Given the description of an element on the screen output the (x, y) to click on. 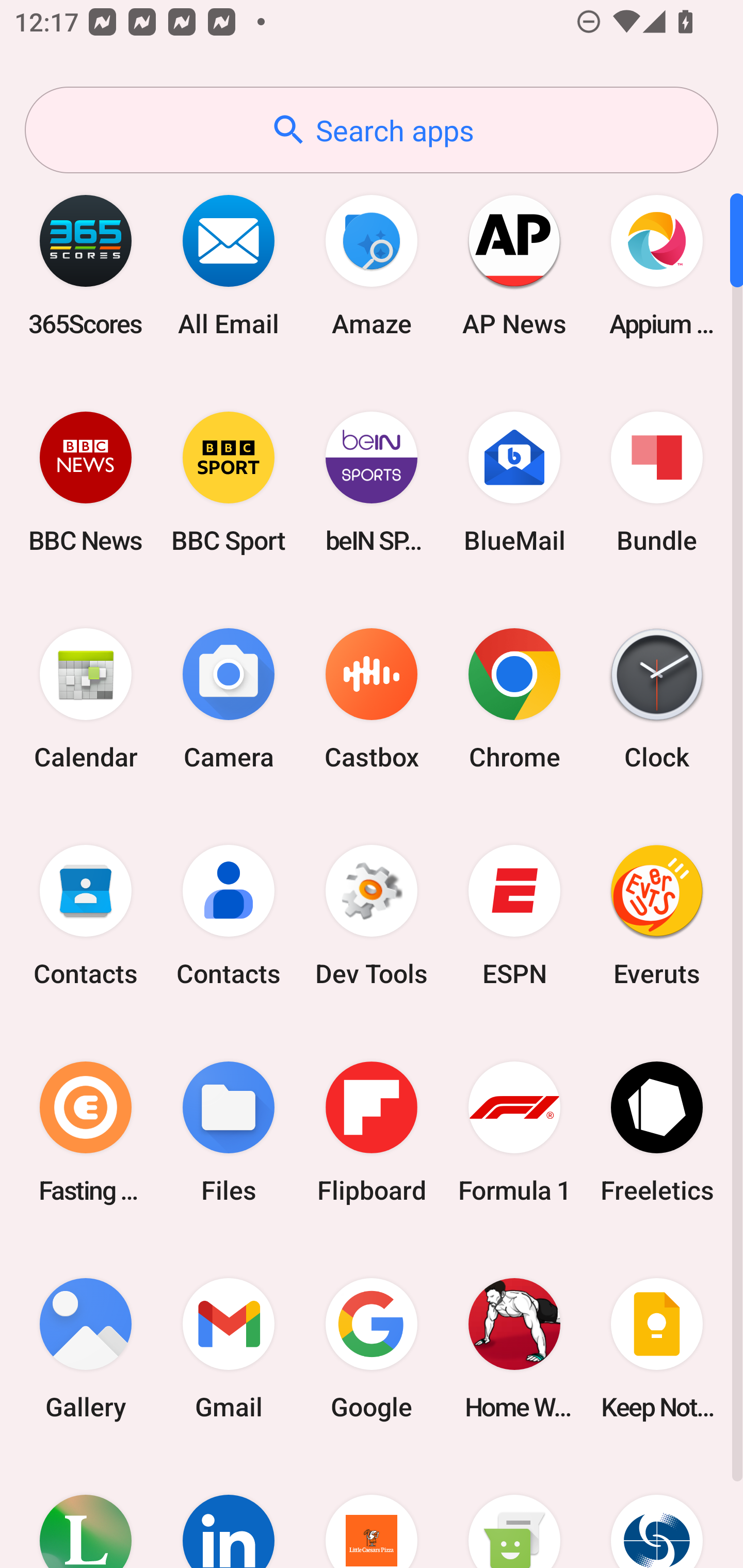
  Search apps (371, 130)
365Scores (85, 264)
All Email (228, 264)
Amaze (371, 264)
AP News (514, 264)
Appium Settings (656, 264)
BBC News (85, 482)
BBC Sport (228, 482)
beIN SPORTS (371, 482)
BlueMail (514, 482)
Bundle (656, 482)
Calendar (85, 699)
Camera (228, 699)
Castbox (371, 699)
Chrome (514, 699)
Clock (656, 699)
Contacts (85, 915)
Contacts (228, 915)
Dev Tools (371, 915)
ESPN (514, 915)
Everuts (656, 915)
Fasting Coach (85, 1131)
Files (228, 1131)
Flipboard (371, 1131)
Formula 1 (514, 1131)
Freeletics (656, 1131)
Gallery (85, 1348)
Gmail (228, 1348)
Google (371, 1348)
Home Workout (514, 1348)
Keep Notes (656, 1348)
